Given the description of an element on the screen output the (x, y) to click on. 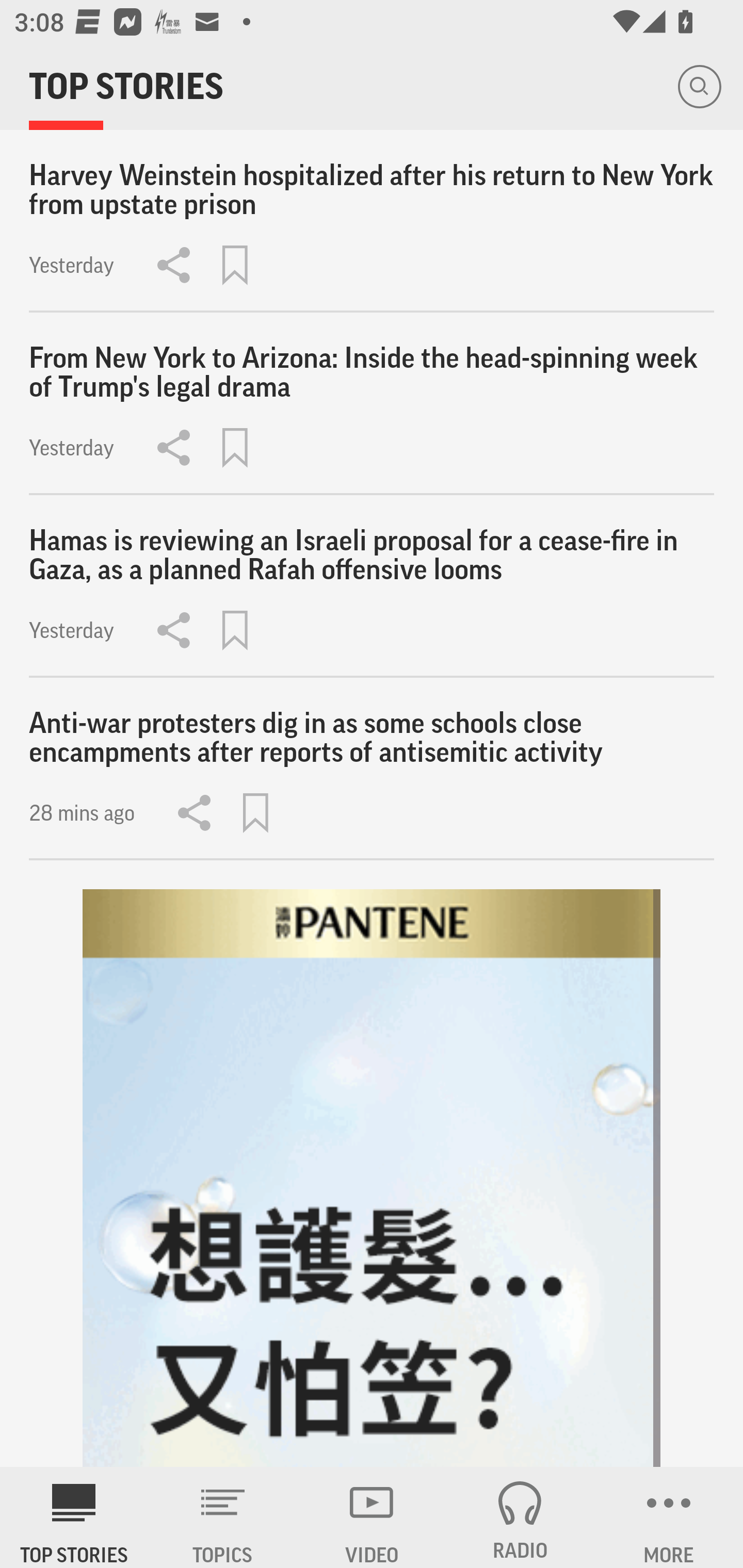
AP News TOP STORIES (74, 1517)
TOPICS (222, 1517)
VIDEO (371, 1517)
RADIO (519, 1517)
MORE (668, 1517)
